Given the description of an element on the screen output the (x, y) to click on. 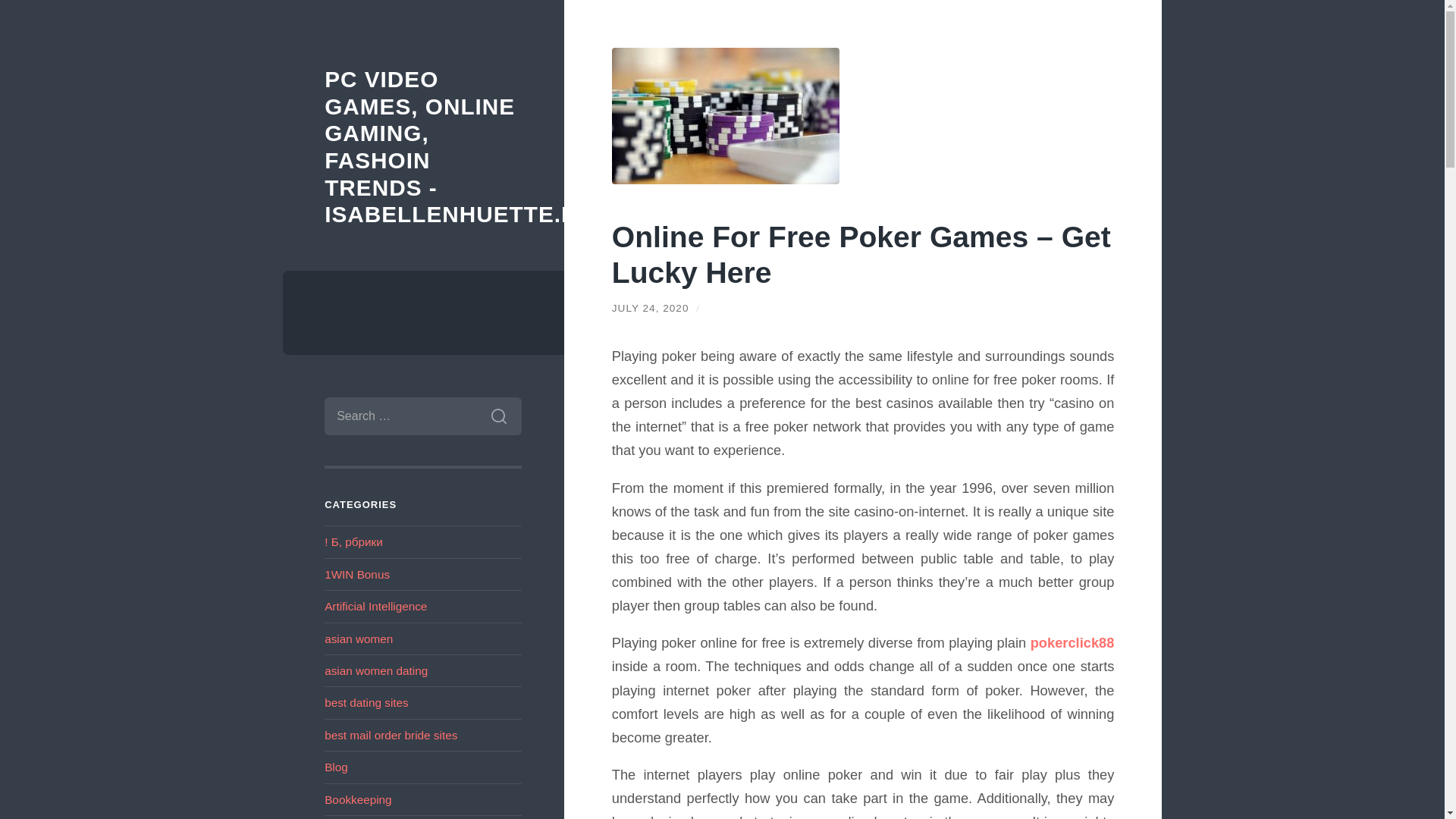
Search (498, 415)
Bookkeeping (357, 799)
Blog (335, 766)
asian women (358, 638)
asian women dating (376, 670)
best dating sites (366, 702)
Search (498, 415)
Search (498, 415)
1WIN Bonus (357, 574)
